Given the description of an element on the screen output the (x, y) to click on. 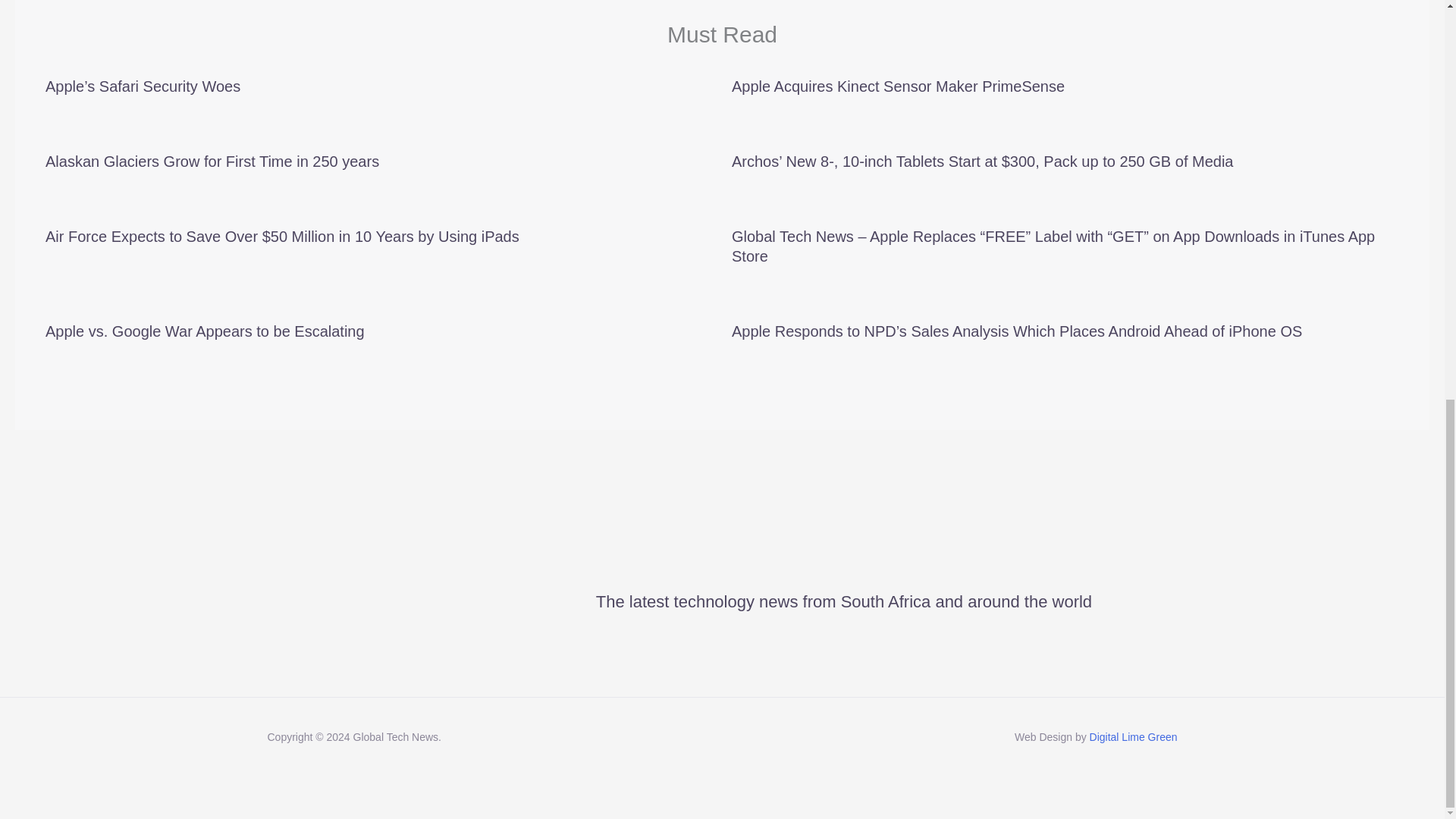
Alaskan Glaciers Grow for First Time in 250 years (211, 161)
Digital Lime Green (1133, 736)
Apple vs. Google War Appears to be Escalating (205, 330)
Apple Acquires Kinect Sensor Maker PrimeSense (898, 86)
